Given the description of an element on the screen output the (x, y) to click on. 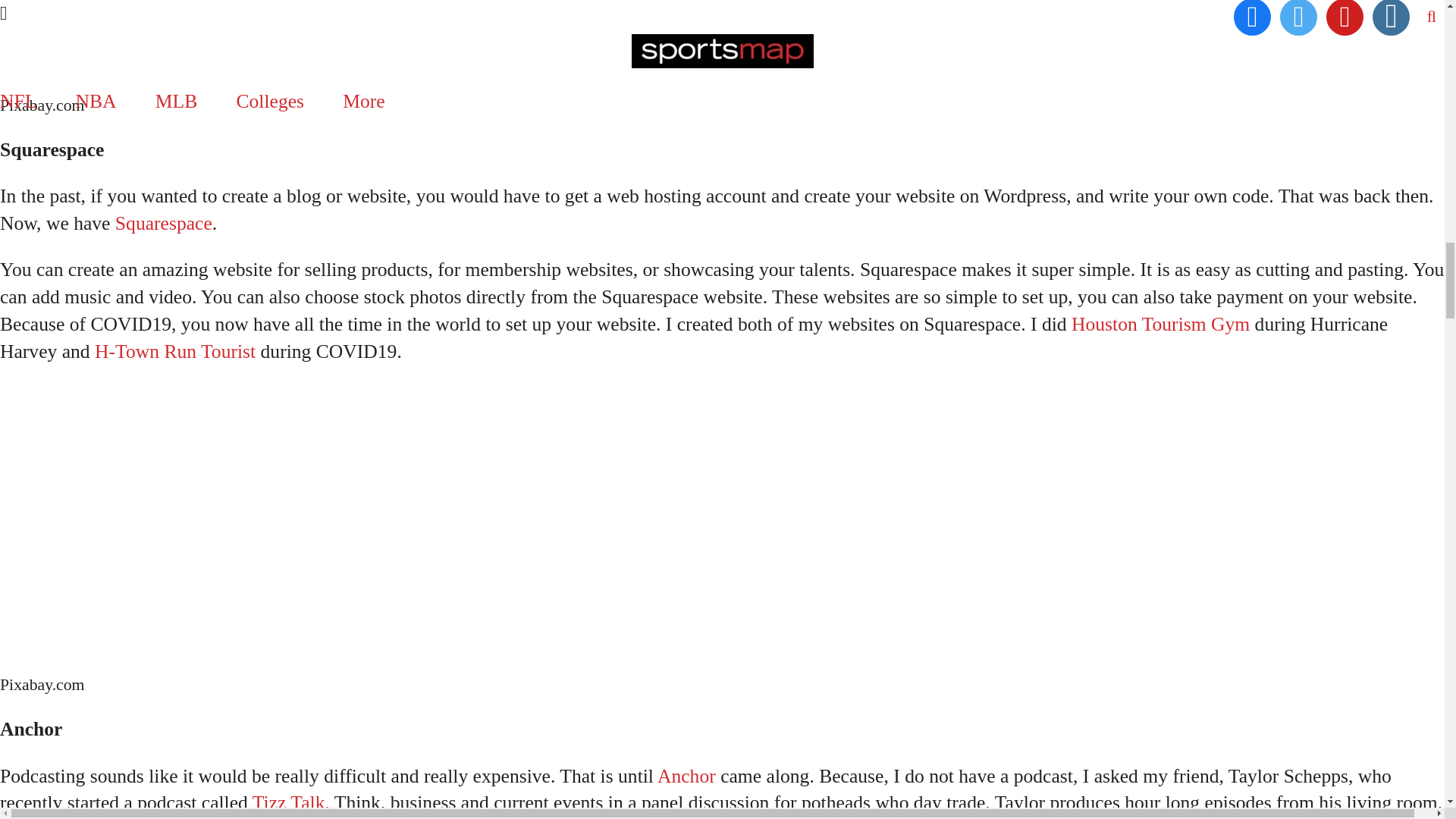
Anchor (687, 775)
H-Town Run Tourist (175, 351)
Tizz Talk. (290, 802)
Squarespace (163, 223)
Houston Tourism Gym (1160, 323)
